Given the description of an element on the screen output the (x, y) to click on. 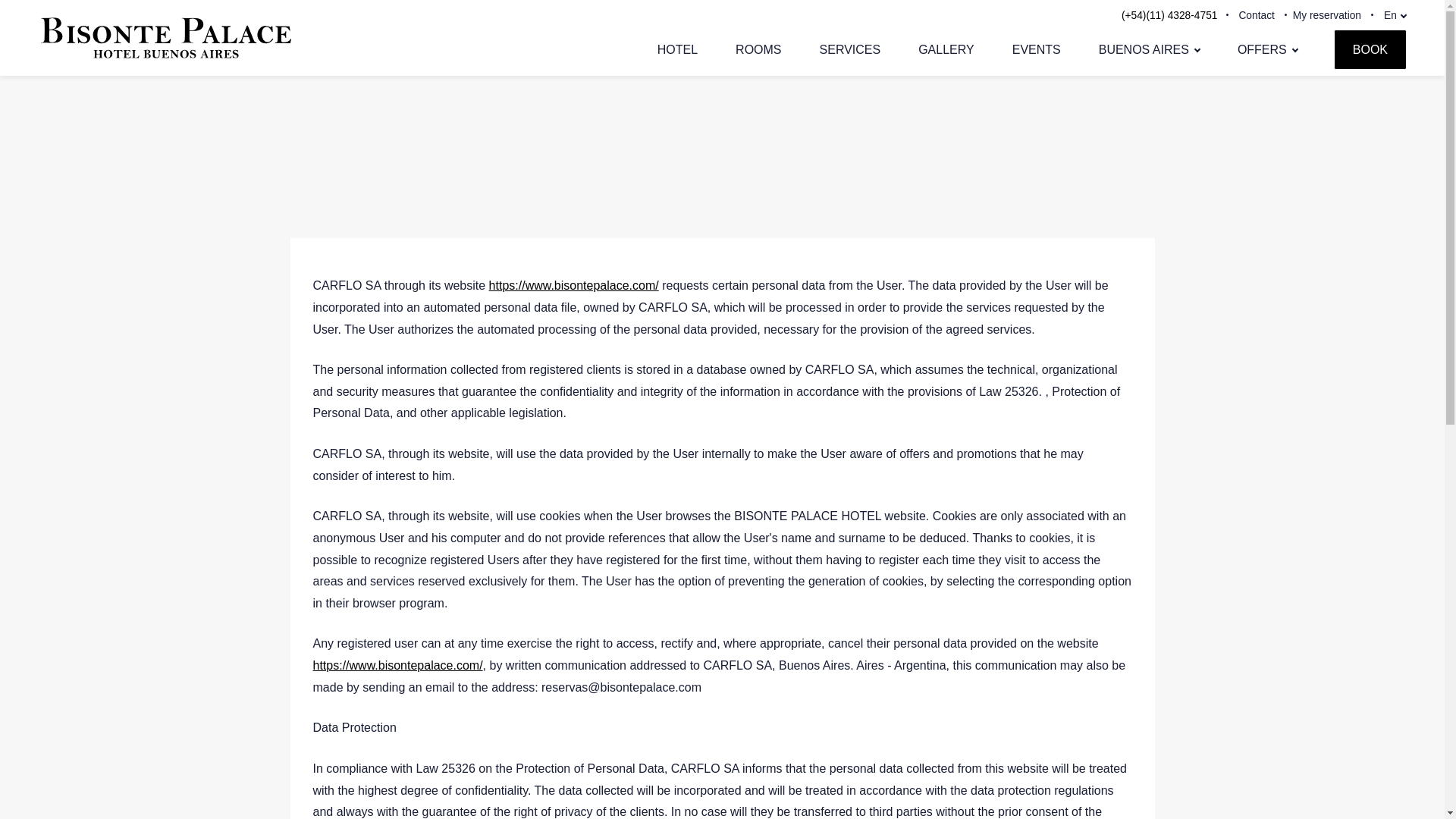
My reservation (1326, 15)
OFFERS (1267, 49)
BUENOS AIRES (1149, 49)
Contact (1256, 15)
SERVICES (849, 49)
HOTEL (677, 49)
EVENTS (1036, 49)
GALLERY (945, 49)
BOOK (1369, 49)
Hotel Bisonte Palace (165, 61)
